Given the description of an element on the screen output the (x, y) to click on. 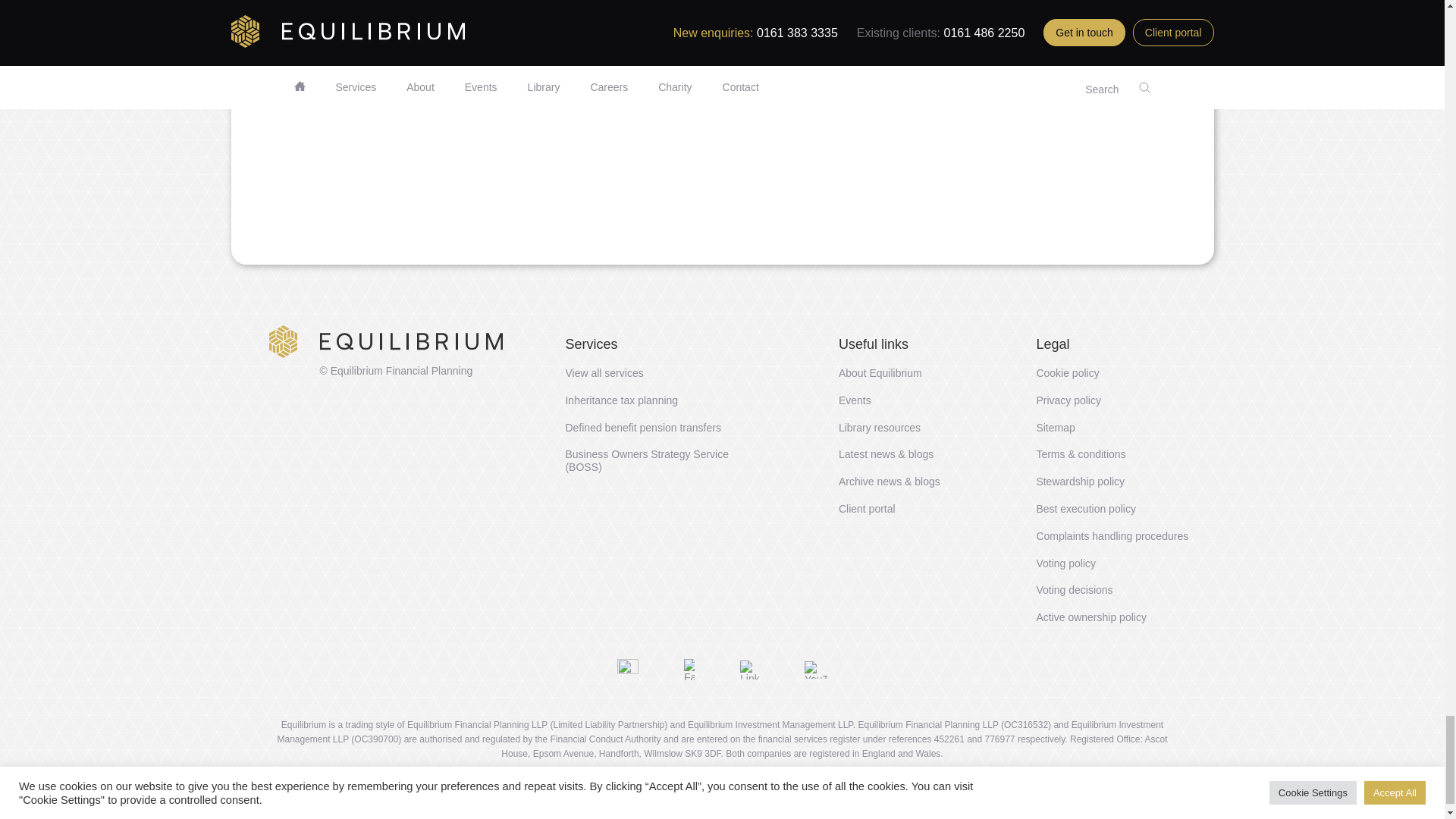
Submit (389, 219)
